Given the description of an element on the screen output the (x, y) to click on. 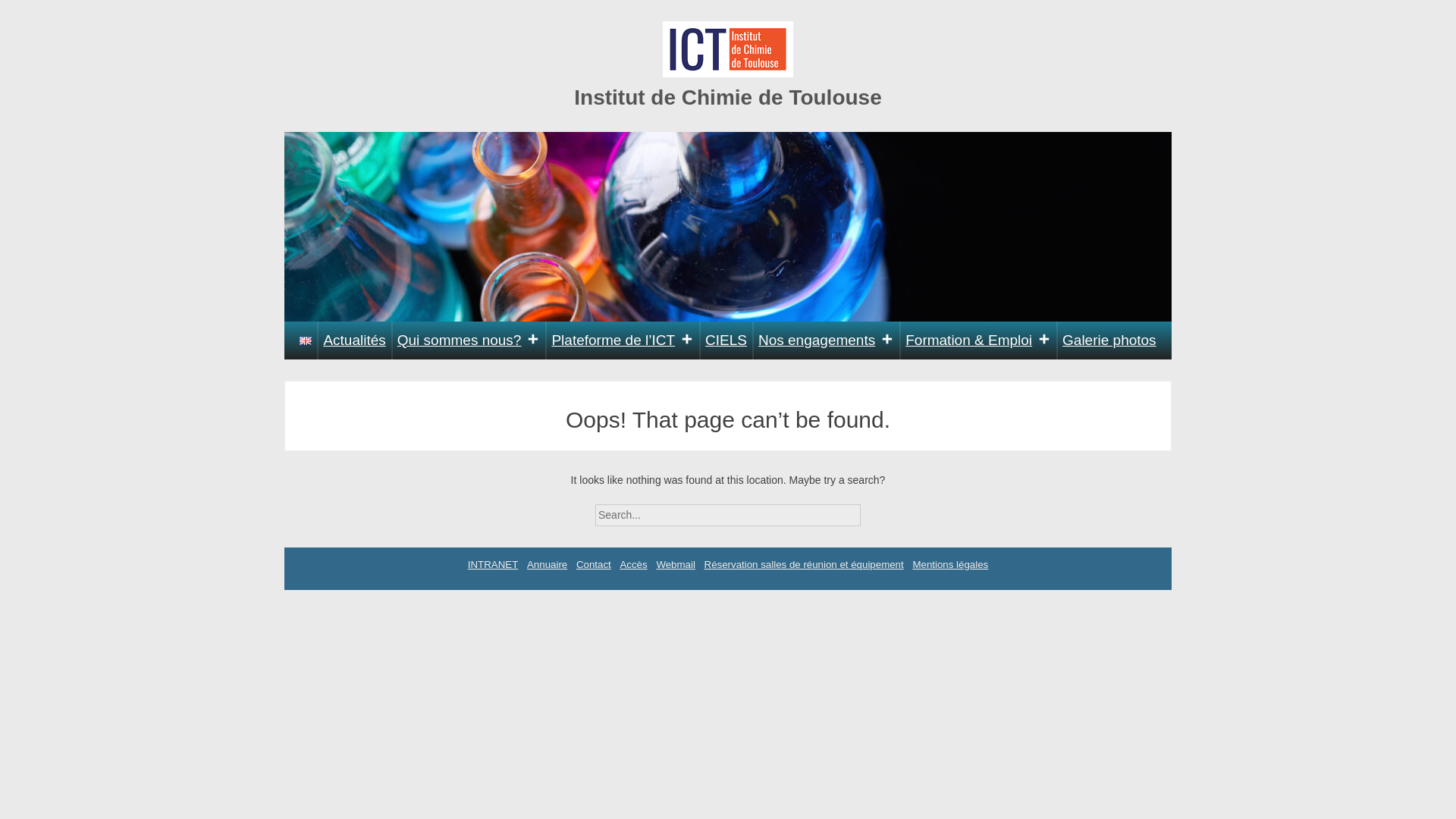
CIELS (726, 340)
Search (873, 509)
Institut de Chimie de Toulouse (727, 97)
Nos engagements (825, 340)
Search (873, 509)
Qui sommes nous? (468, 340)
